Given the description of an element on the screen output the (x, y) to click on. 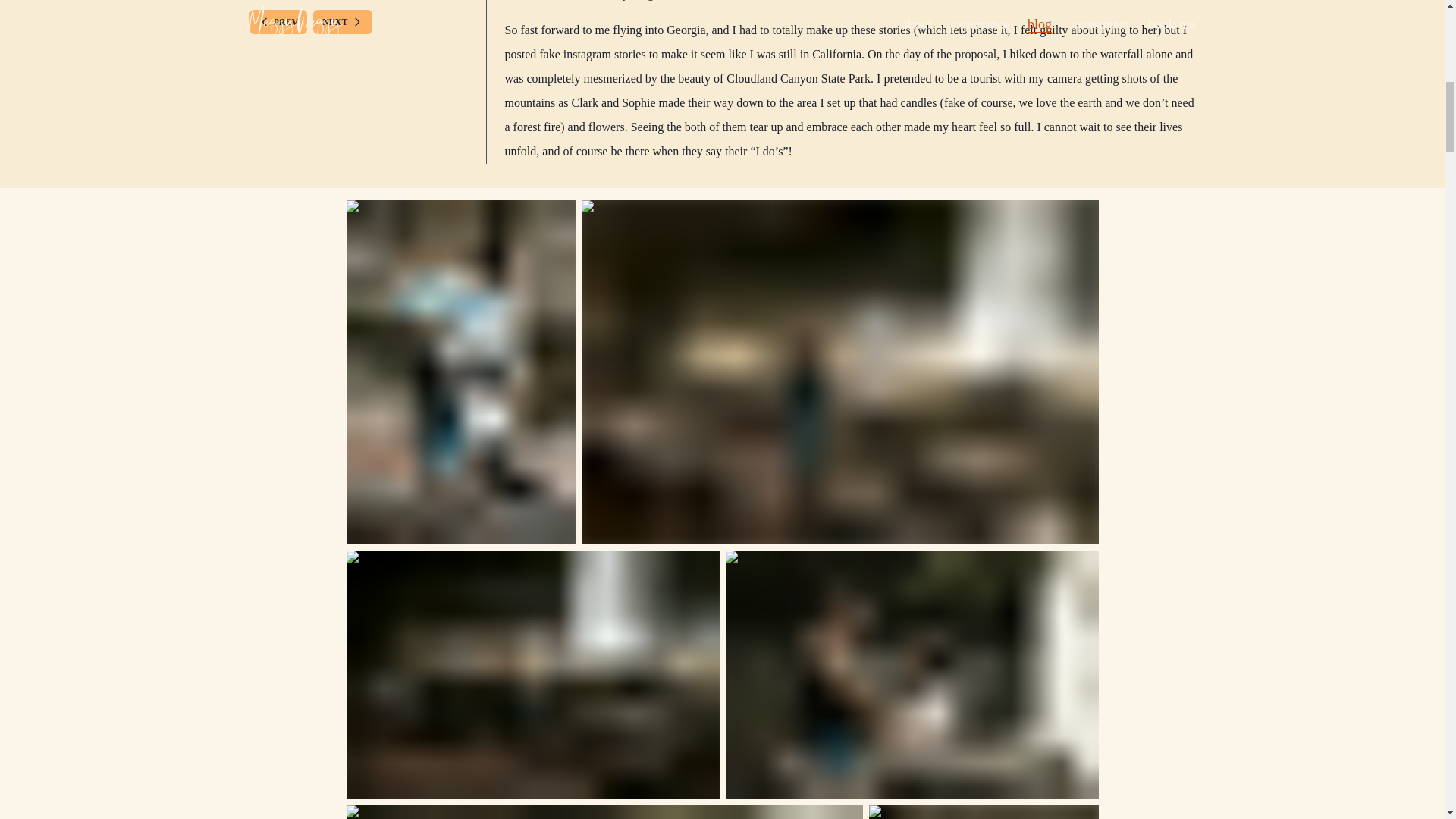
NEXT (342, 22)
PREV (277, 21)
